Given the description of an element on the screen output the (x, y) to click on. 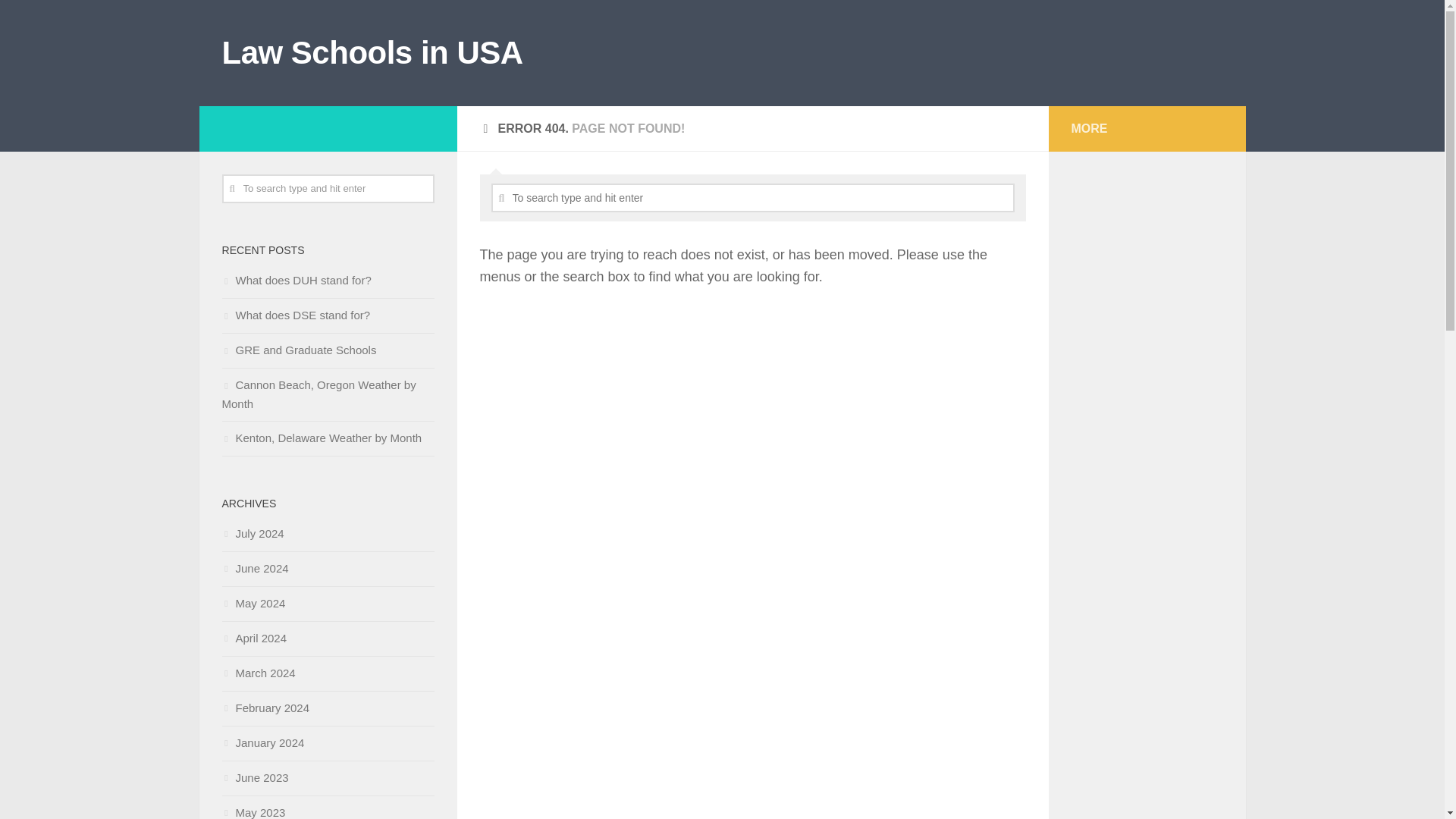
To search type and hit enter (753, 197)
February 2024 (264, 707)
What does DSE stand for? (295, 314)
June 2023 (254, 777)
To search type and hit enter (327, 188)
Law Schools in USA (371, 53)
April 2024 (253, 637)
What does DUH stand for? (296, 279)
May 2024 (253, 603)
Cannon Beach, Oregon Weather by Month (317, 394)
To search type and hit enter (753, 197)
July 2024 (252, 533)
Kenton, Delaware Weather by Month (321, 437)
To search type and hit enter (327, 188)
June 2024 (254, 567)
